Given the description of an element on the screen output the (x, y) to click on. 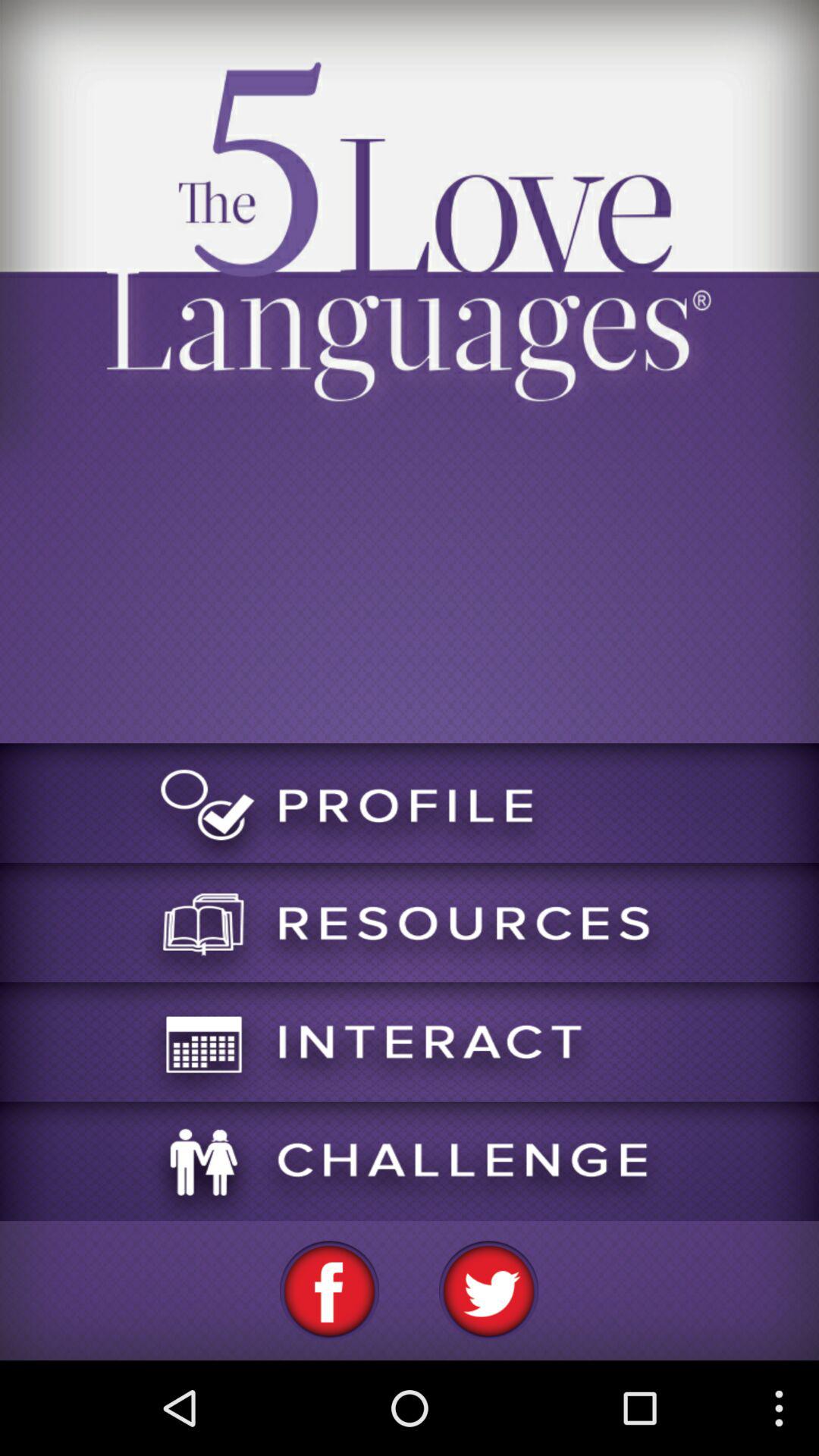
resource (409, 922)
